Given the description of an element on the screen output the (x, y) to click on. 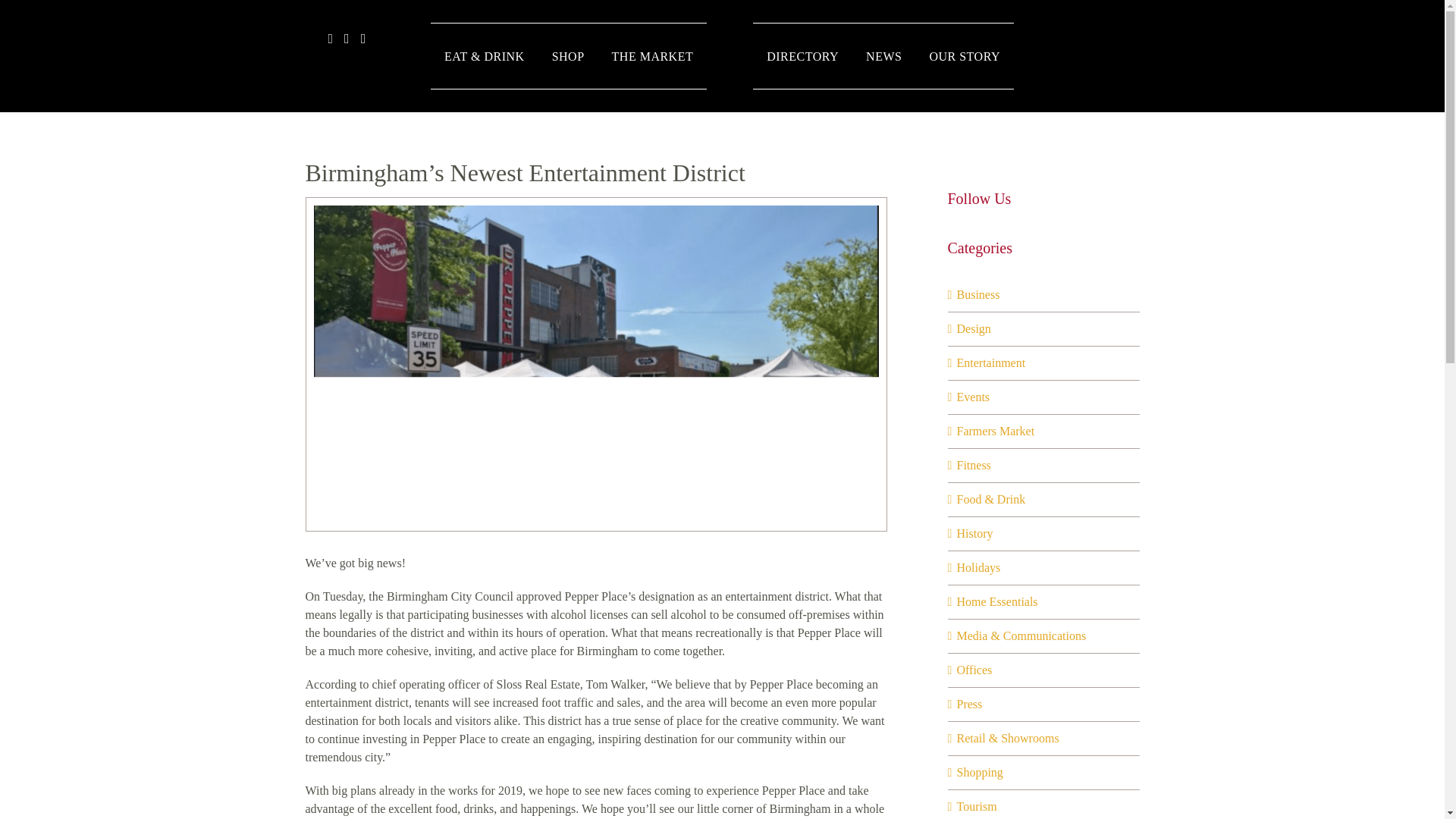
DIRECTORY (802, 56)
OUR STORY (964, 56)
THE MARKET (652, 56)
